Given the description of an element on the screen output the (x, y) to click on. 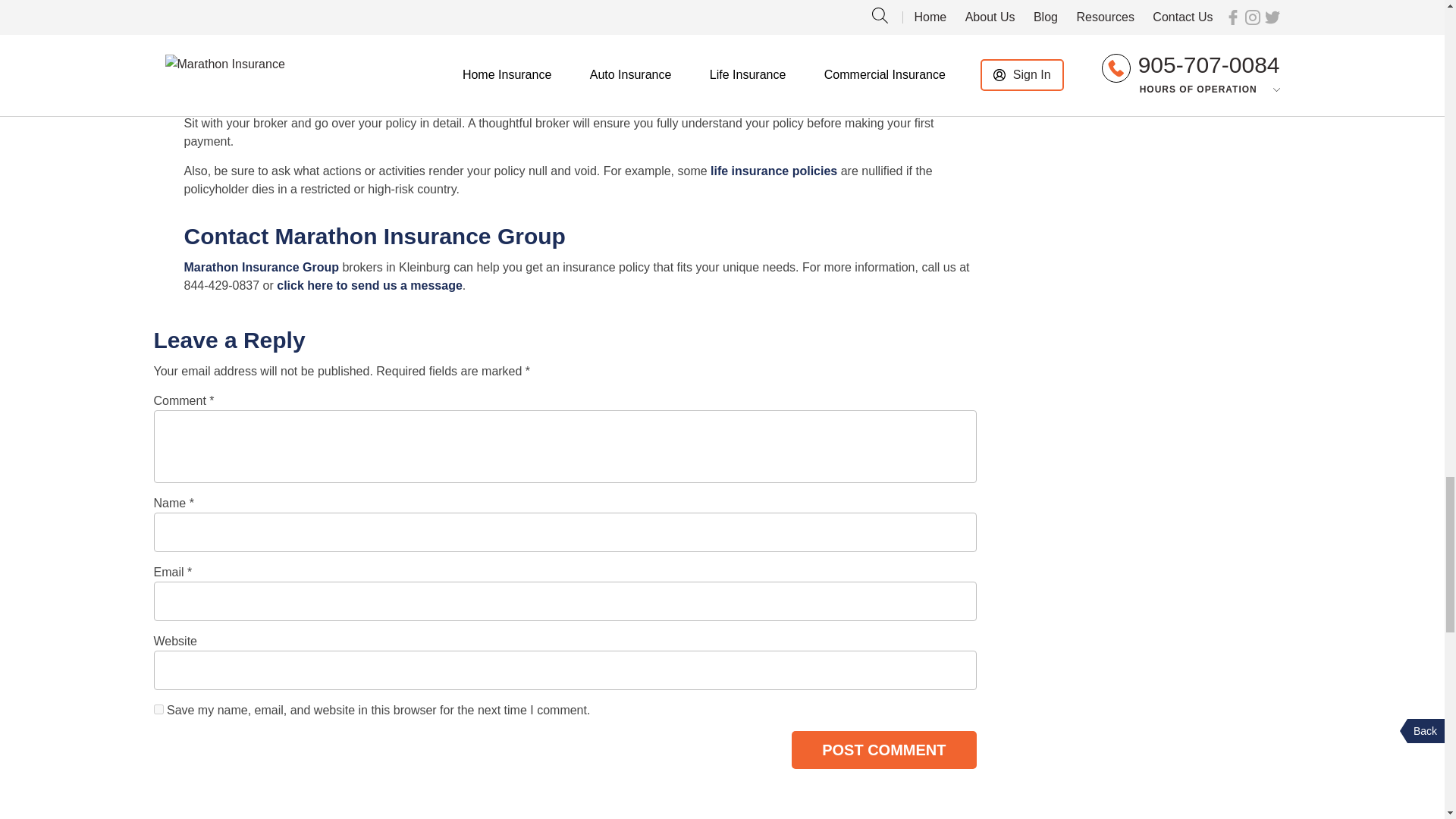
Post Comment (883, 750)
yes (157, 709)
